Given the description of an element on the screen output the (x, y) to click on. 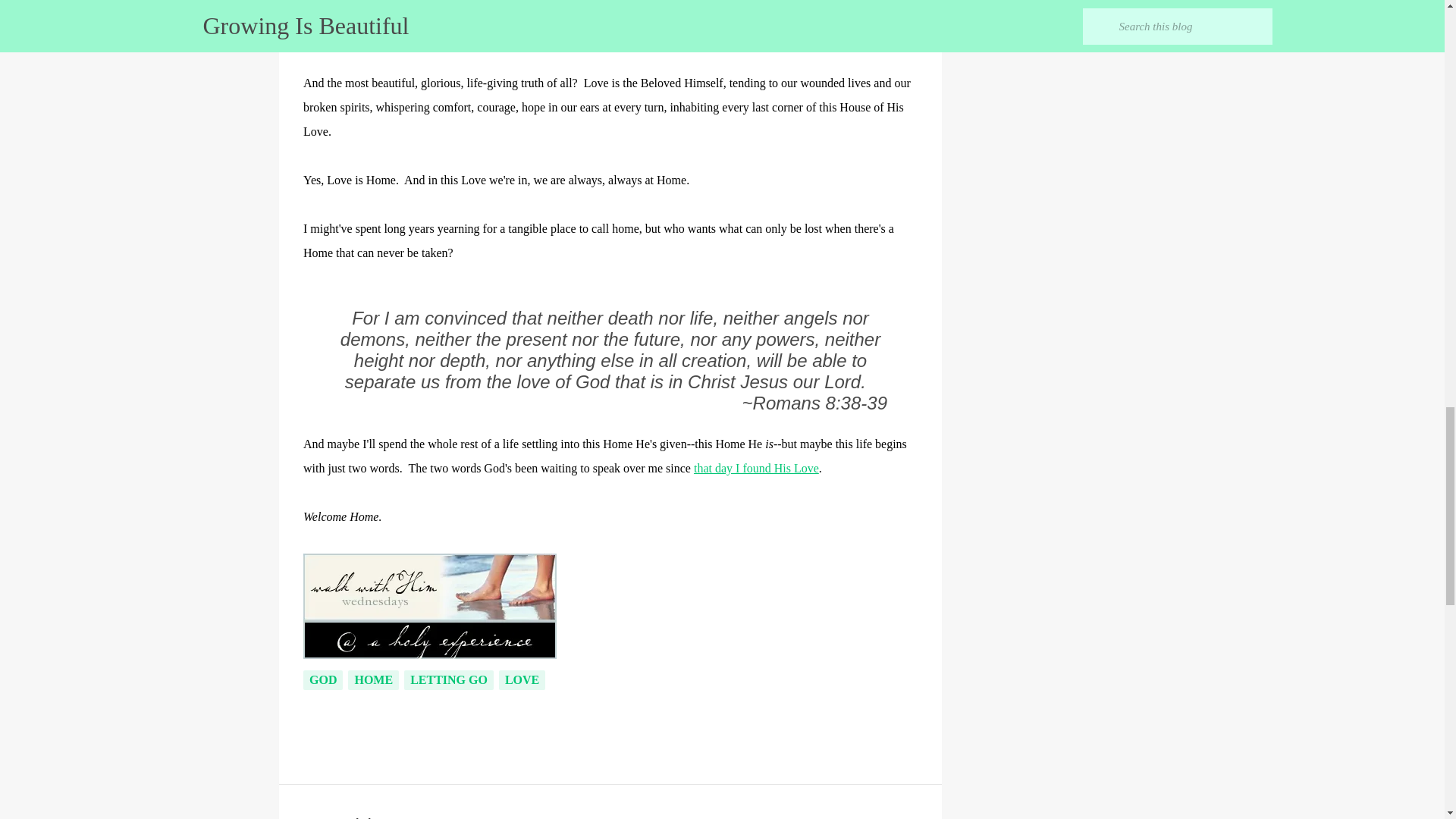
that day I found His Love (756, 468)
HOME (372, 680)
LETTING GO (448, 680)
chris (363, 817)
GOD (322, 680)
LOVE (521, 680)
